Given the description of an element on the screen output the (x, y) to click on. 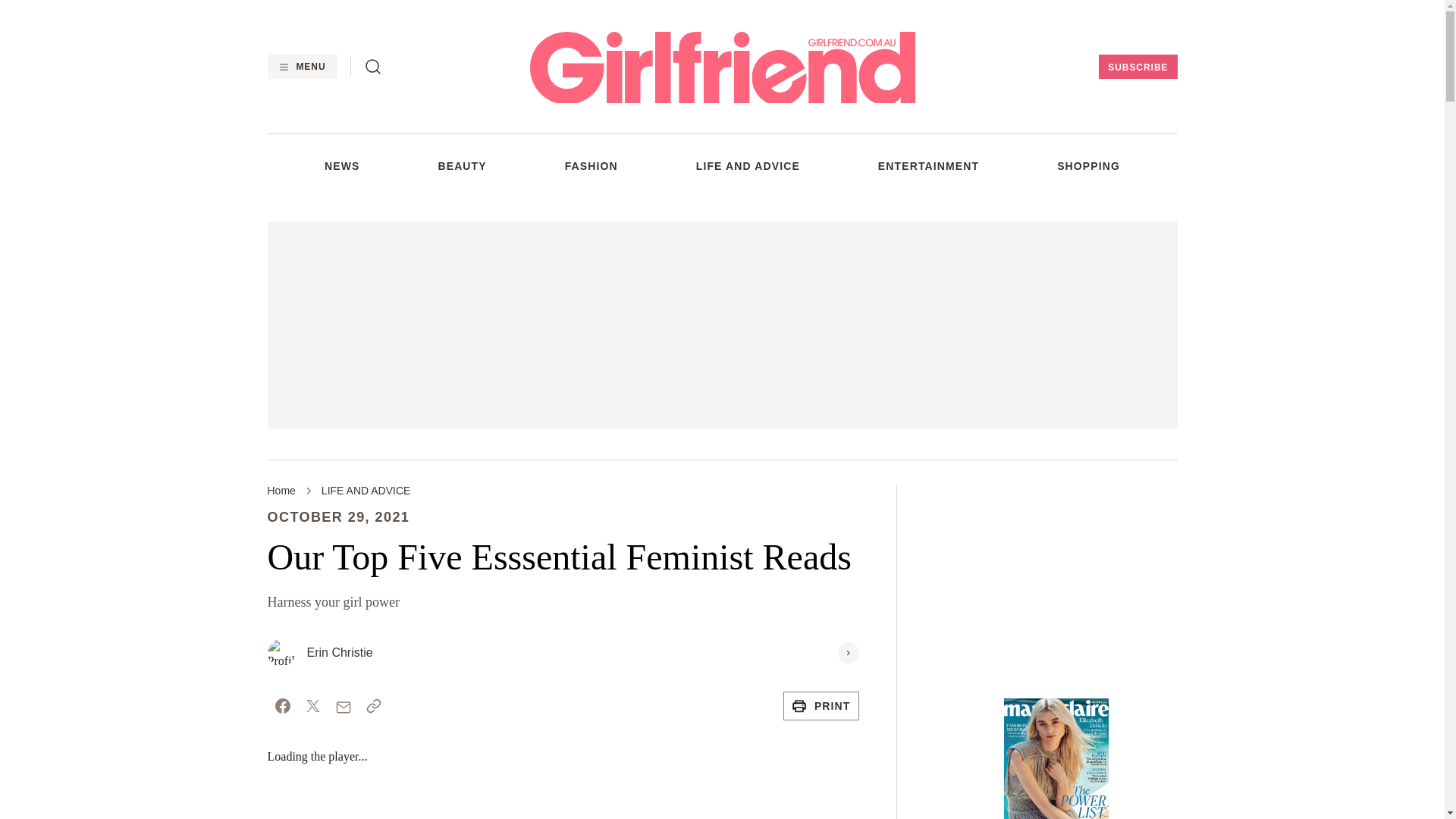
SHOPPING (1088, 165)
BEAUTY (462, 165)
FASHION (590, 165)
NEWS (341, 165)
LIFE AND ADVICE (747, 165)
ENTERTAINMENT (927, 165)
SUBSCRIBE (1137, 66)
MENU (301, 66)
